Given the description of an element on the screen output the (x, y) to click on. 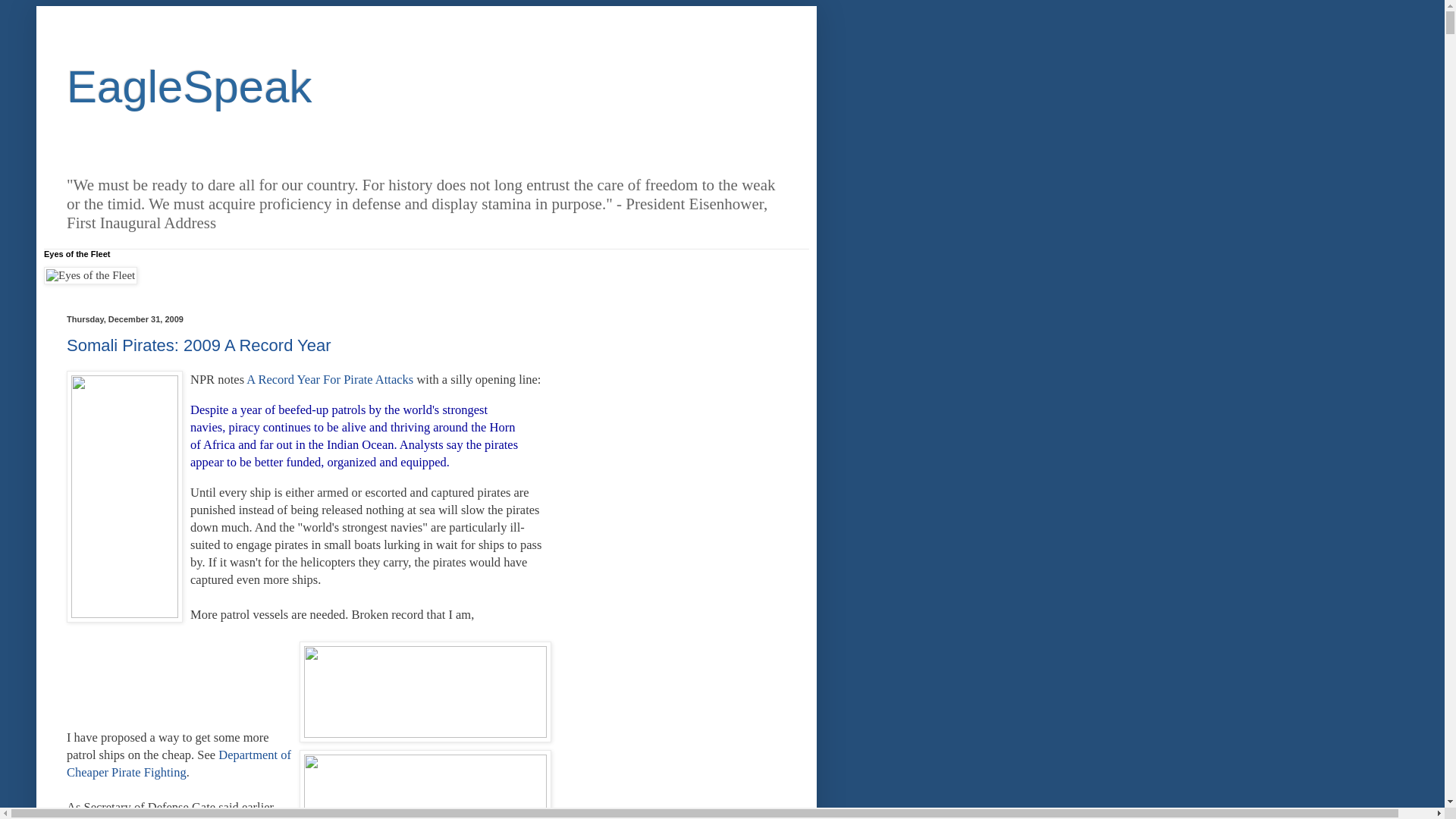
A Record Year For Pirate Attacks (329, 379)
Department of Cheaper Pirate Fighting (178, 763)
Somali Pirates: 2009 A Record Year (198, 344)
EagleSpeak (189, 86)
